Given the description of an element on the screen output the (x, y) to click on. 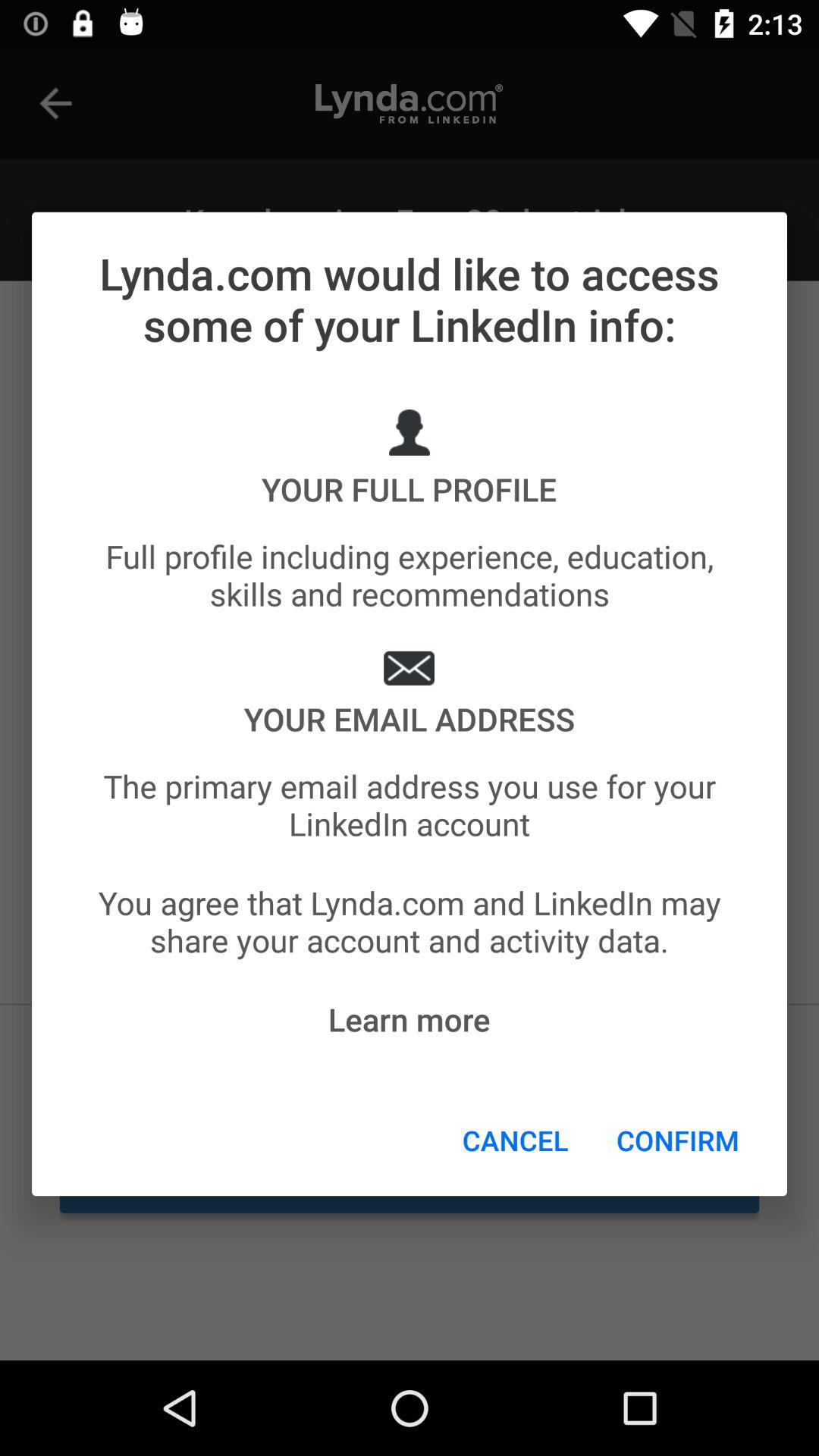
choose confirm (677, 1140)
